Given the description of an element on the screen output the (x, y) to click on. 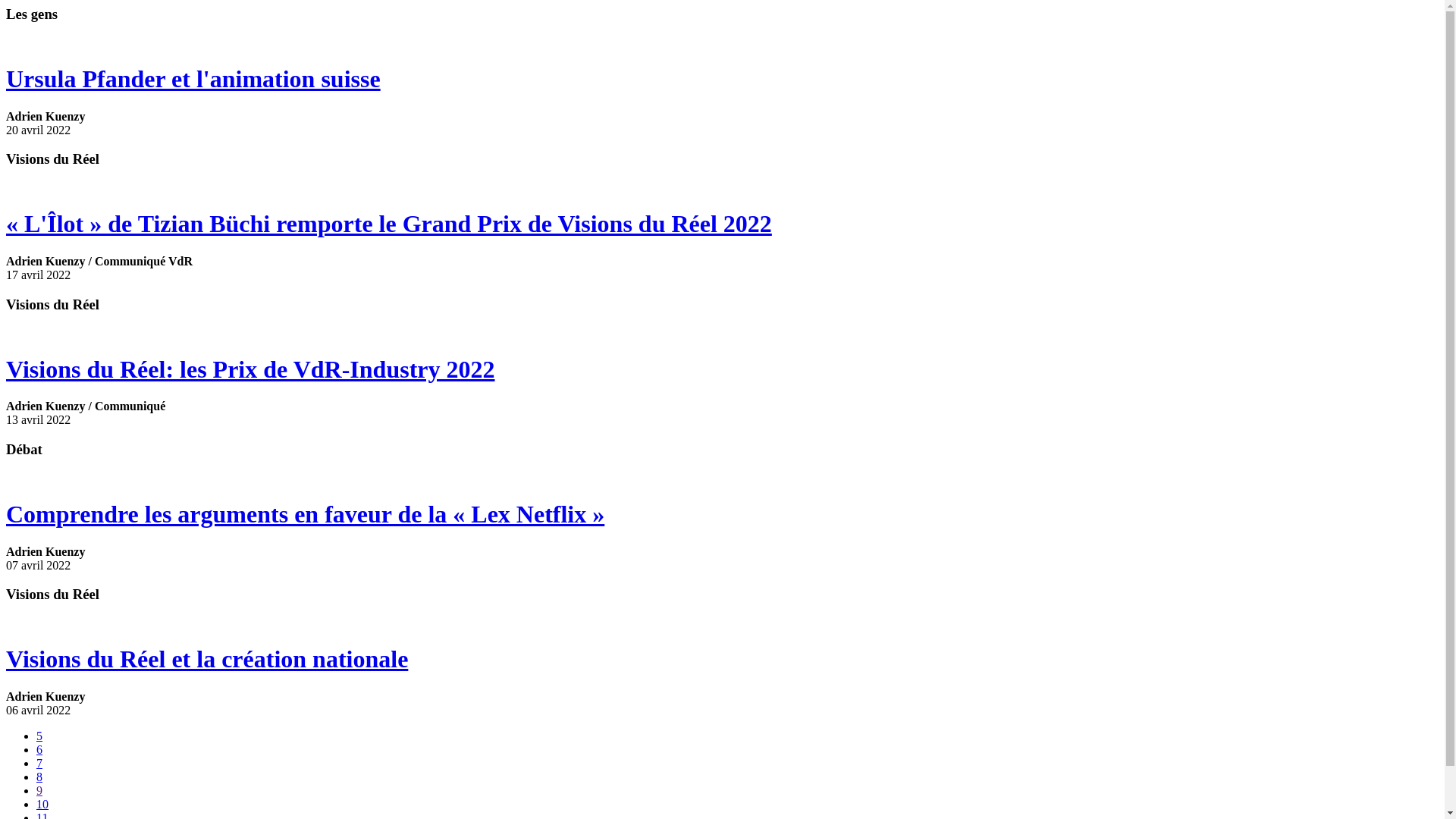
10 Element type: text (42, 803)
6 Element type: text (39, 749)
9 Element type: text (39, 790)
Ursula Pfander et l'animation suisse Element type: text (722, 79)
7 Element type: text (39, 762)
5 Element type: text (39, 735)
8 Element type: text (39, 776)
